Given the description of an element on the screen output the (x, y) to click on. 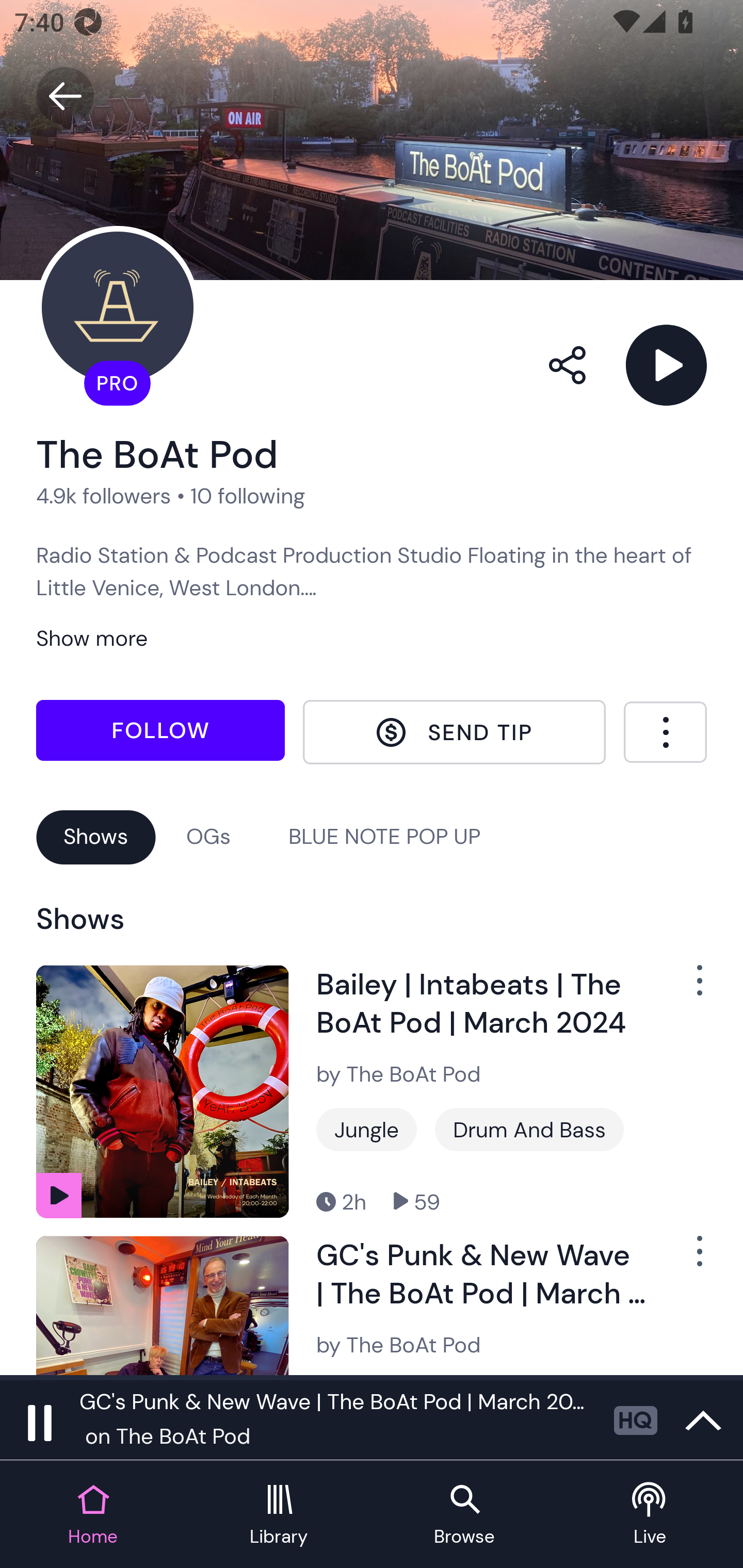
4.9k followers (103, 495)
10 following (247, 495)
Follow FOLLOW (160, 729)
Send tip SEND TIP (454, 732)
More Menu (665, 731)
Shows (95, 836)
OGs (208, 836)
BLUE NOTE POP UP (384, 836)
Show Options Menu Button (688, 987)
Jungle (366, 1129)
Drum And Bass (529, 1129)
Show Options Menu Button (688, 1258)
Home tab Home (92, 1515)
Library tab Library (278, 1515)
Browse tab Browse (464, 1515)
Live tab Live (650, 1515)
